Given the description of an element on the screen output the (x, y) to click on. 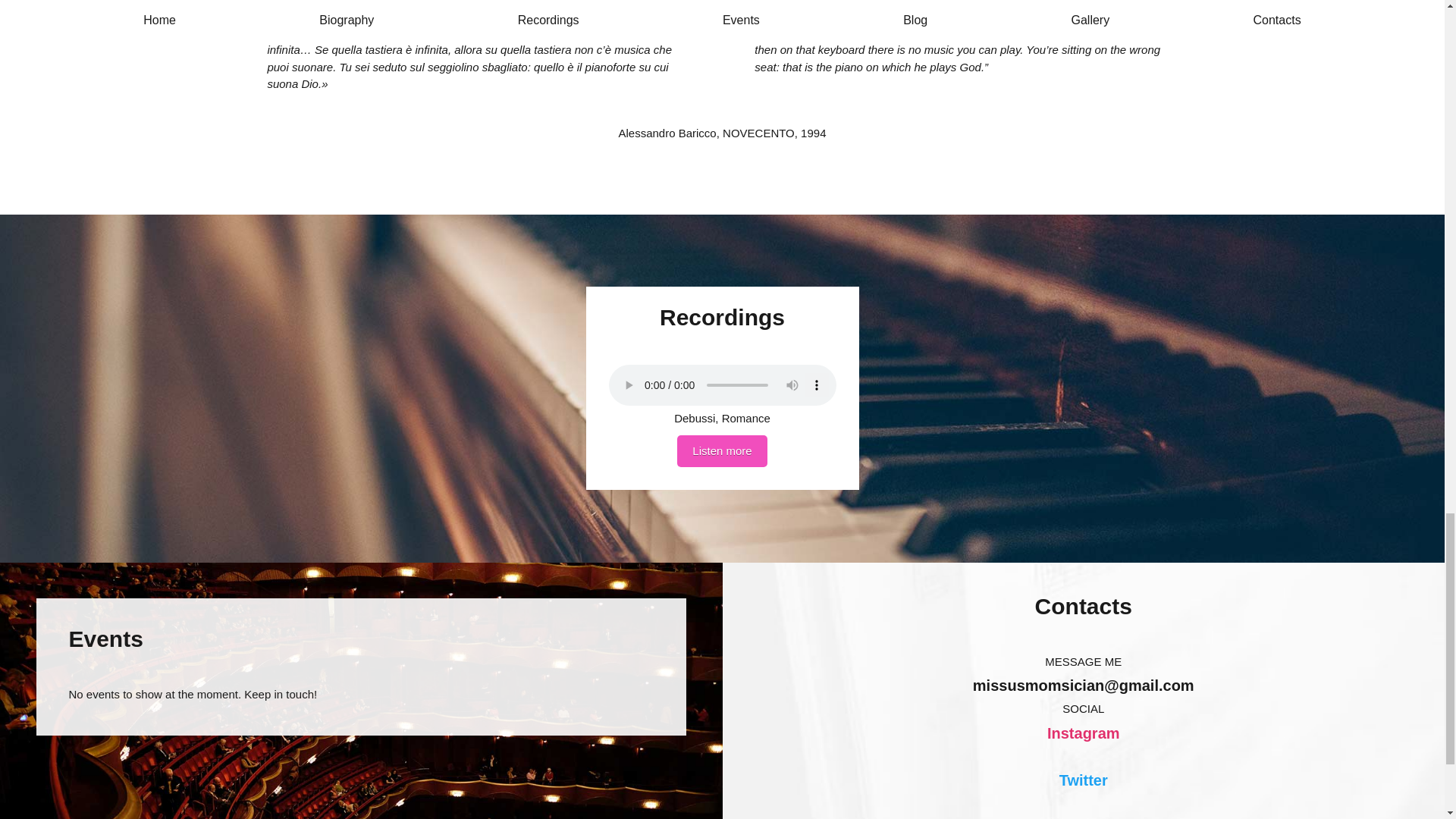
Twitter (1083, 779)
Listen more (722, 450)
Facebook (1083, 816)
Instagram (1082, 733)
